Given the description of an element on the screen output the (x, y) to click on. 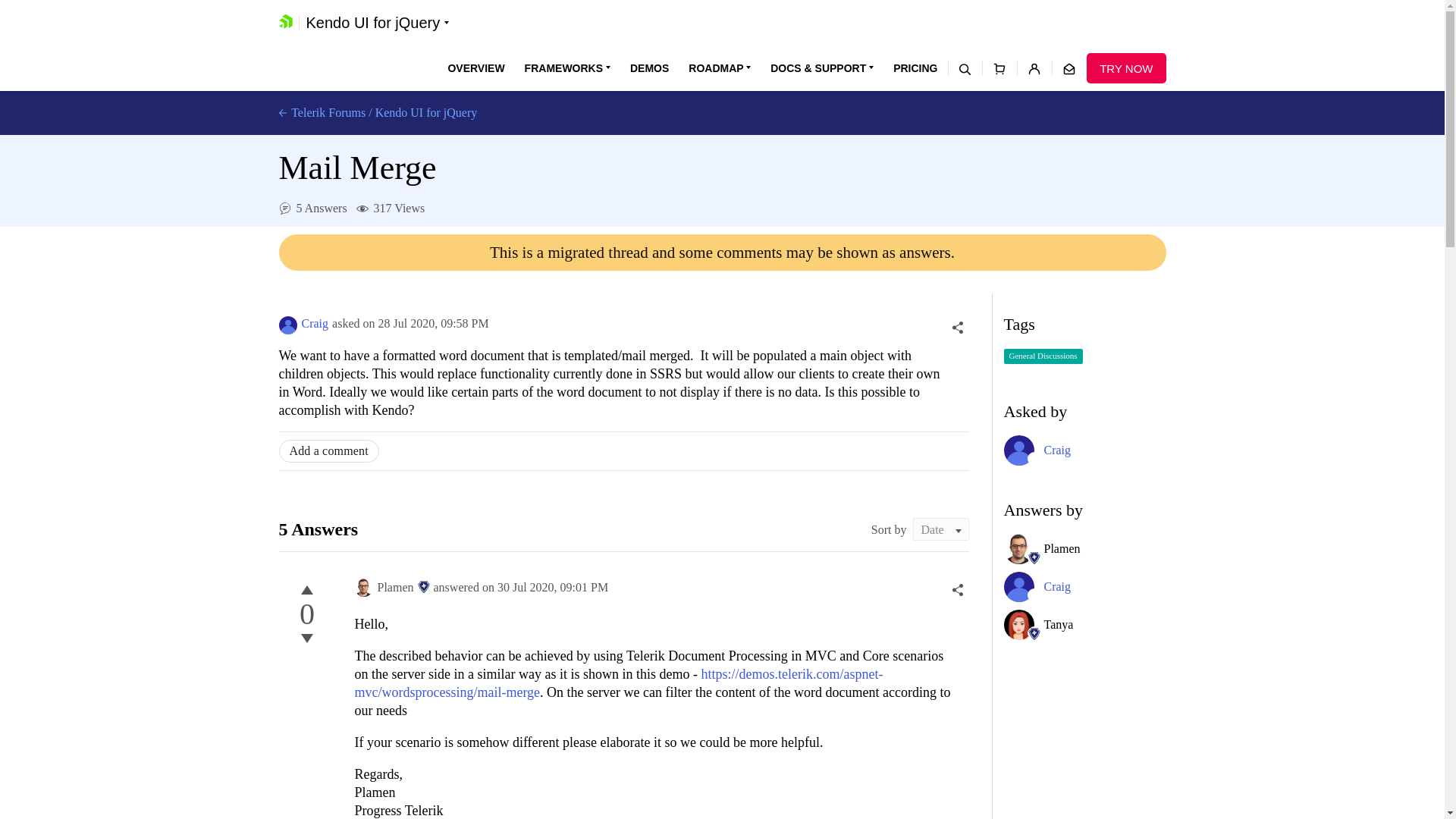
General Discussions (1043, 355)
This answer is helpful. (306, 589)
This answer is not helpful. (306, 638)
OVERVIEW (474, 67)
FRAMEWORKS (567, 67)
Kendo UI for jQuery (377, 22)
SKIP NAVIGATION (339, 7)
